Given the description of an element on the screen output the (x, y) to click on. 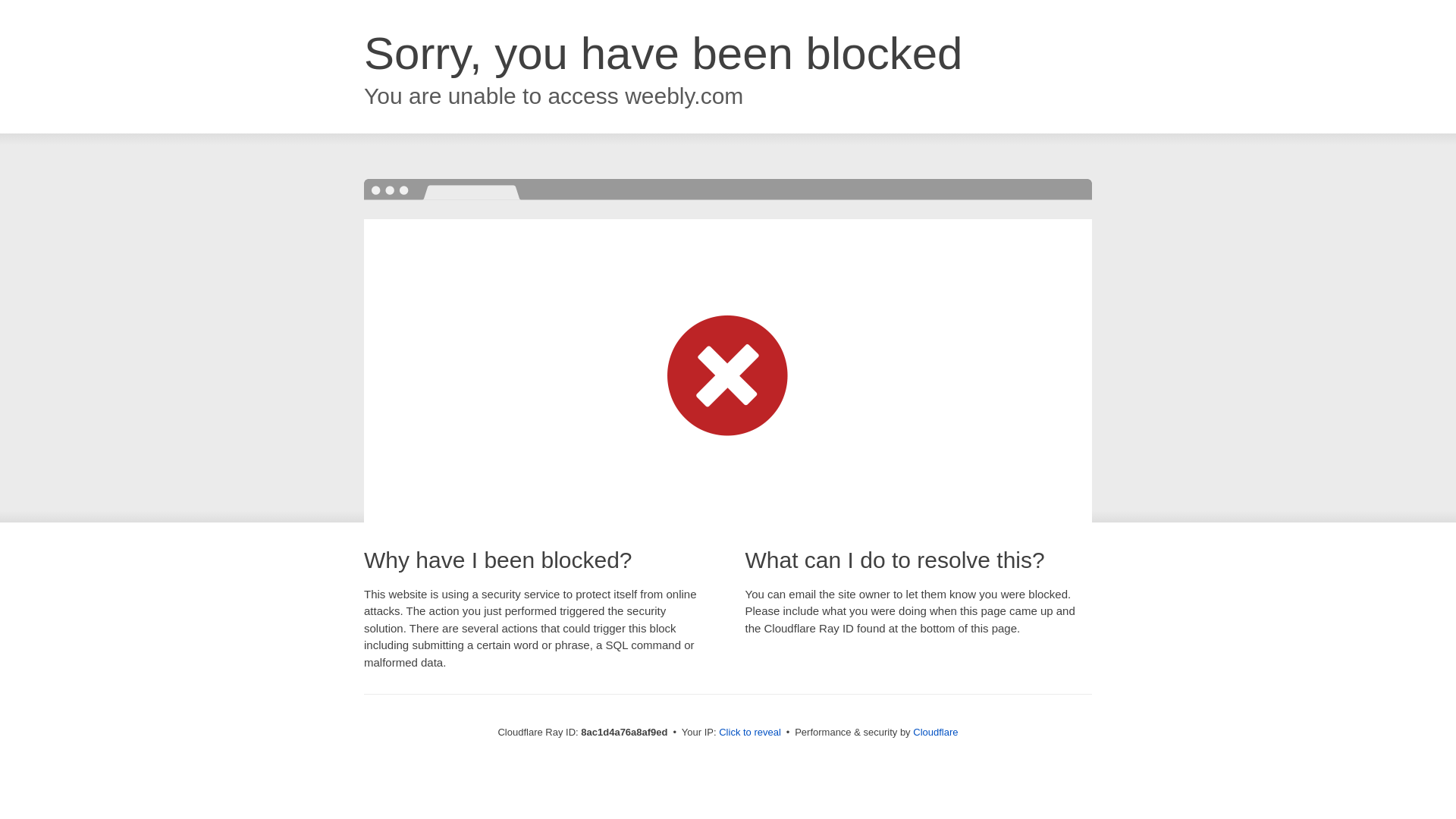
Cloudflare (935, 731)
Click to reveal (749, 732)
